Given the description of an element on the screen output the (x, y) to click on. 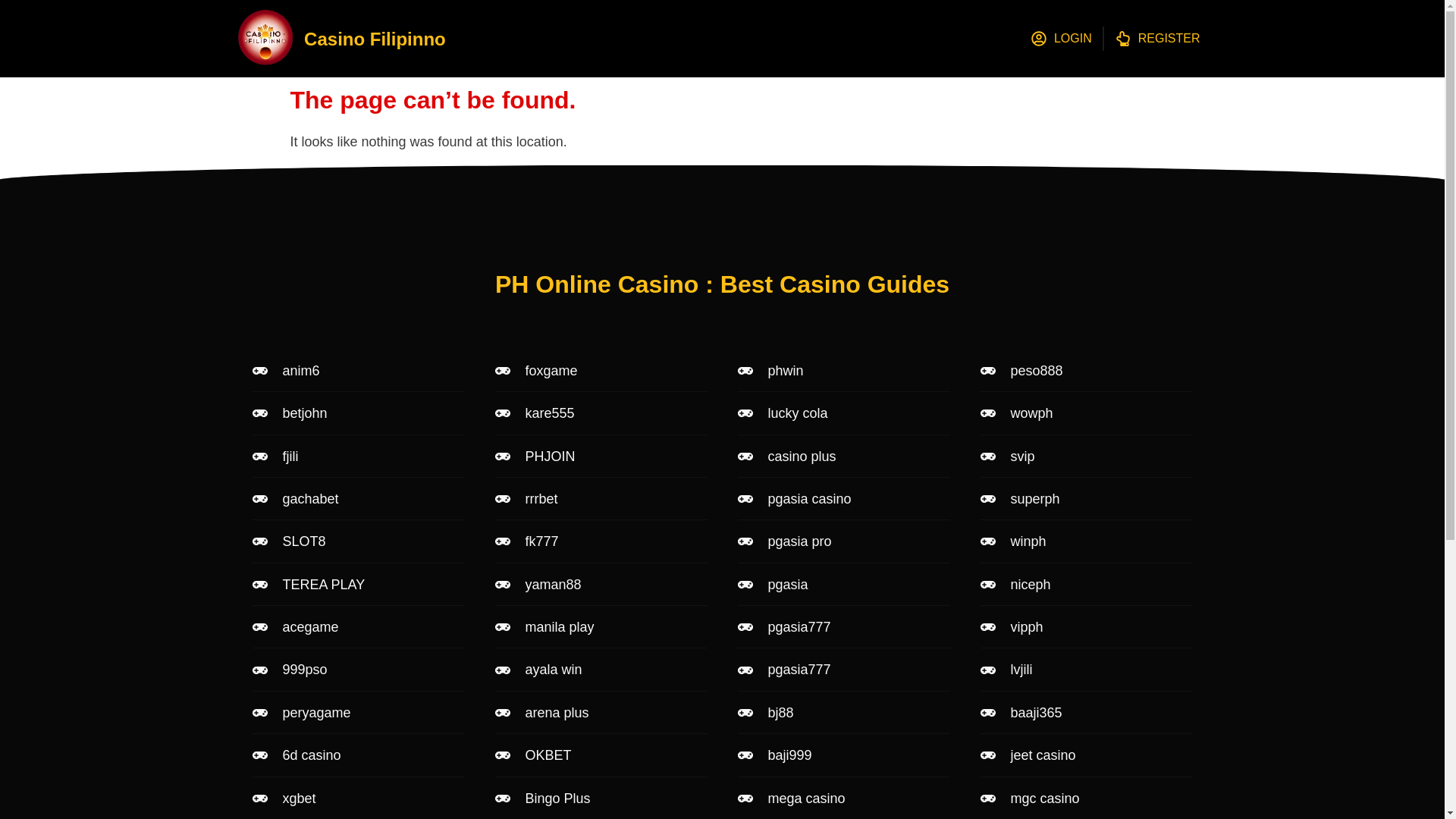
fjili (357, 456)
arena plus (600, 712)
phwin (842, 370)
fk777 (600, 541)
6d casino (357, 754)
TEREA PLAY (357, 584)
betjohn (357, 413)
SLOT8 (357, 541)
PHJOIN (600, 456)
gachabet (357, 498)
